Given the description of an element on the screen output the (x, y) to click on. 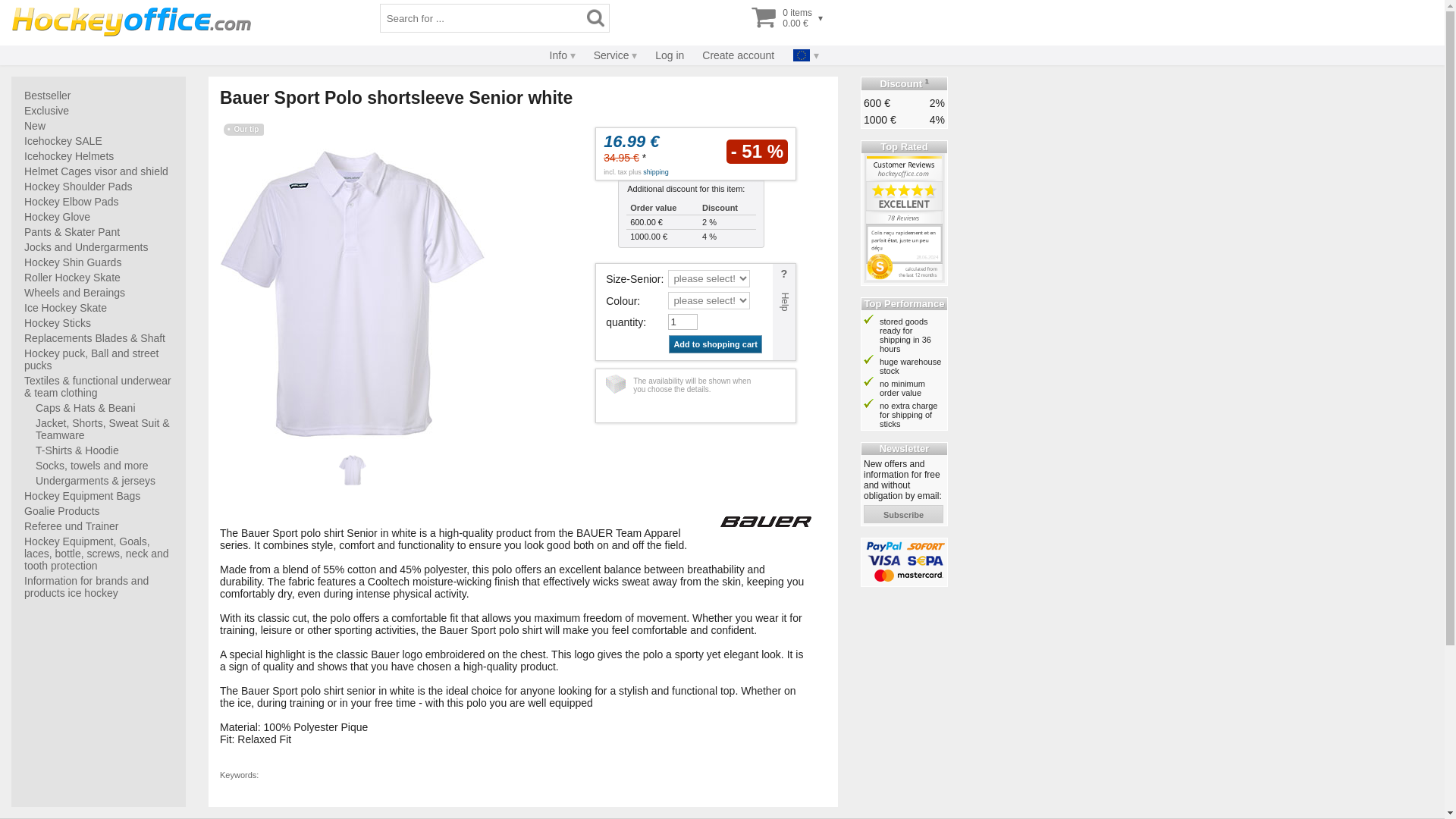
Add item to shopping cart (714, 343)
Sizing and product infos (783, 311)
1 (682, 321)
Show shopping cart (783, 17)
BAUER (765, 521)
Bauer Sport Polo shortsleeve Senior white (351, 293)
